Given the description of an element on the screen output the (x, y) to click on. 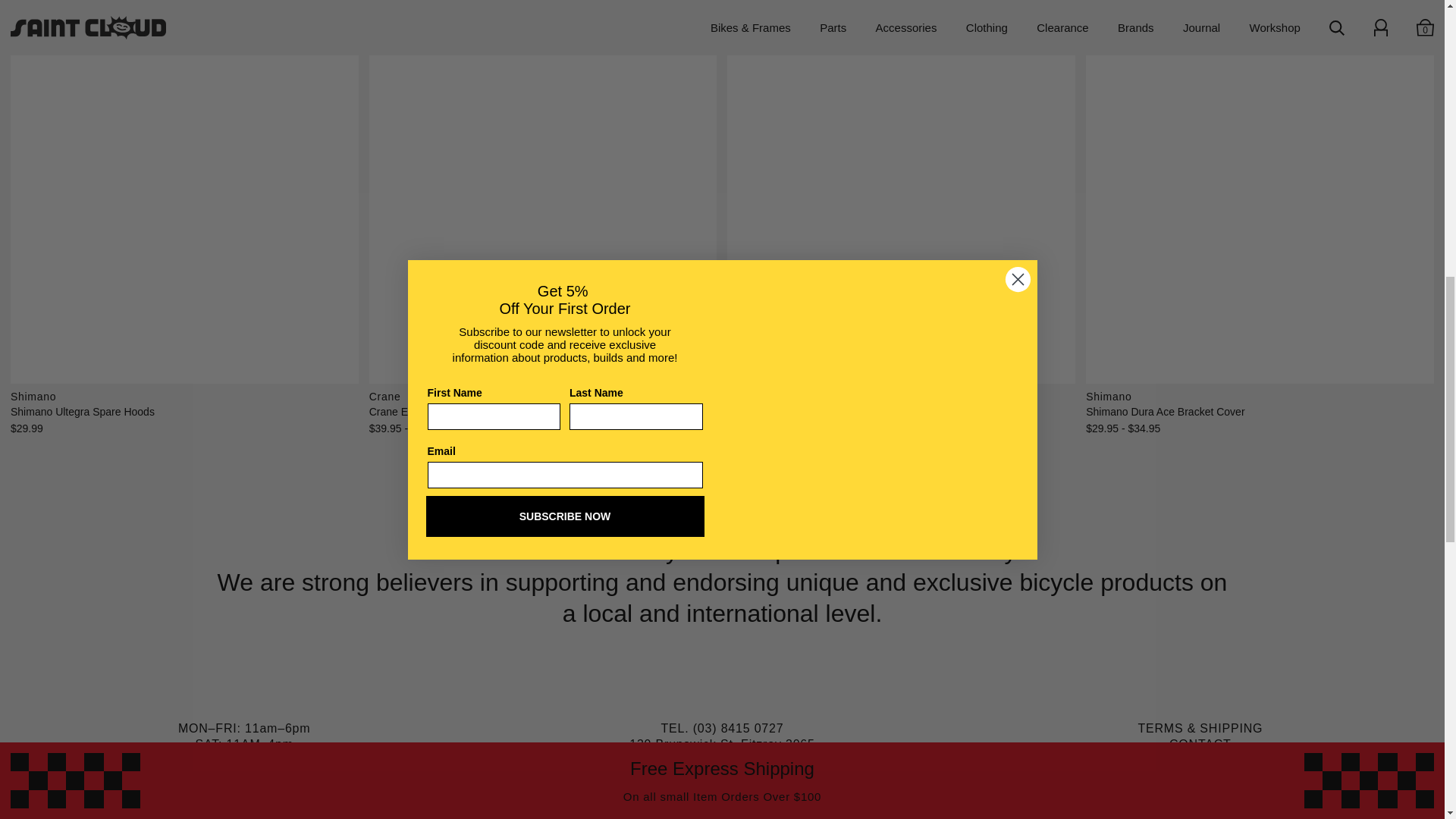
Shipping Policy (1199, 727)
Get in touch (1200, 744)
